Given the description of an element on the screen output the (x, y) to click on. 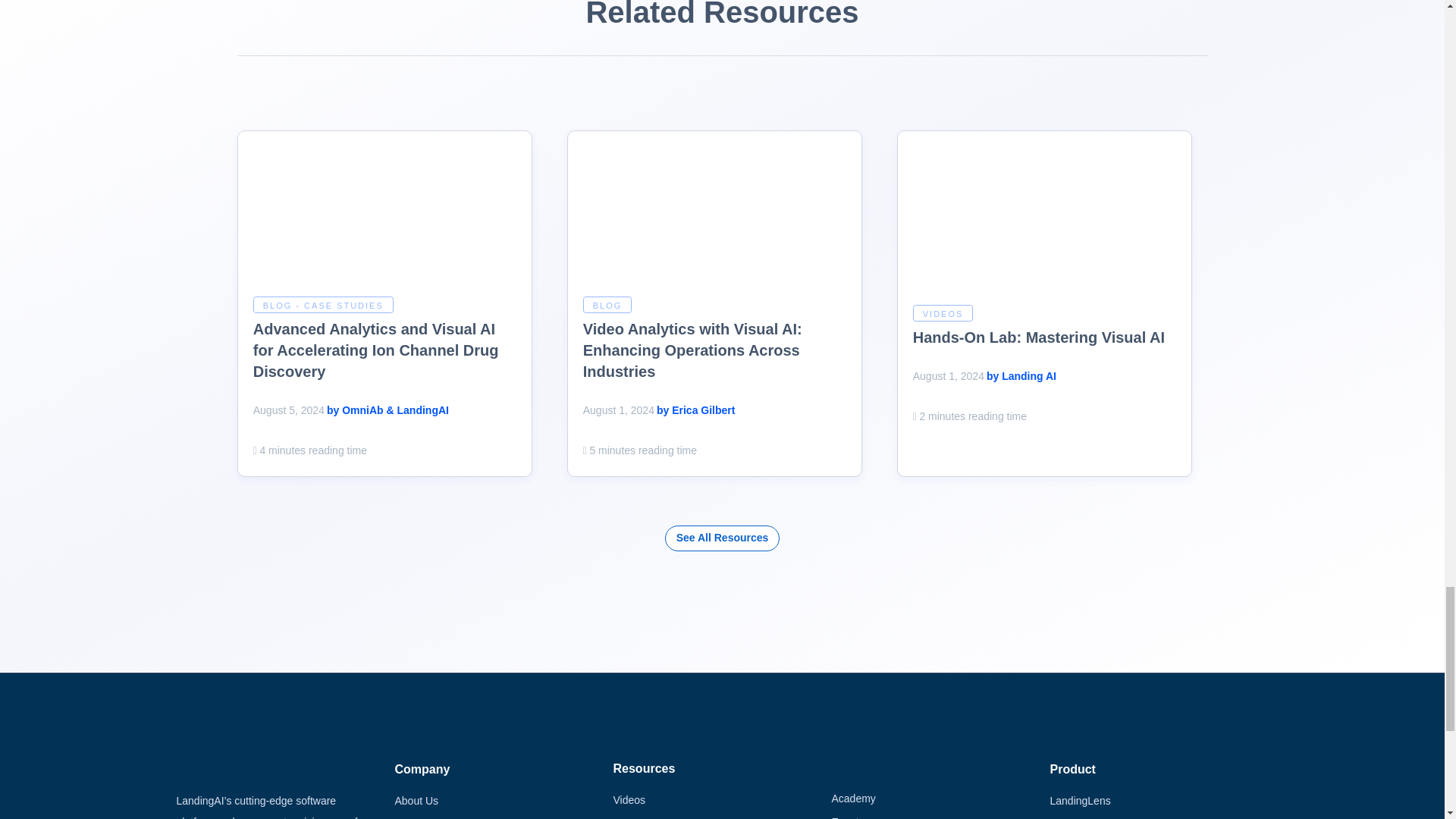
Group 396 (715, 216)
Group 397 (384, 216)
LandingAI-logo-primary-reverse-RGB (239, 766)
